Given the description of an element on the screen output the (x, y) to click on. 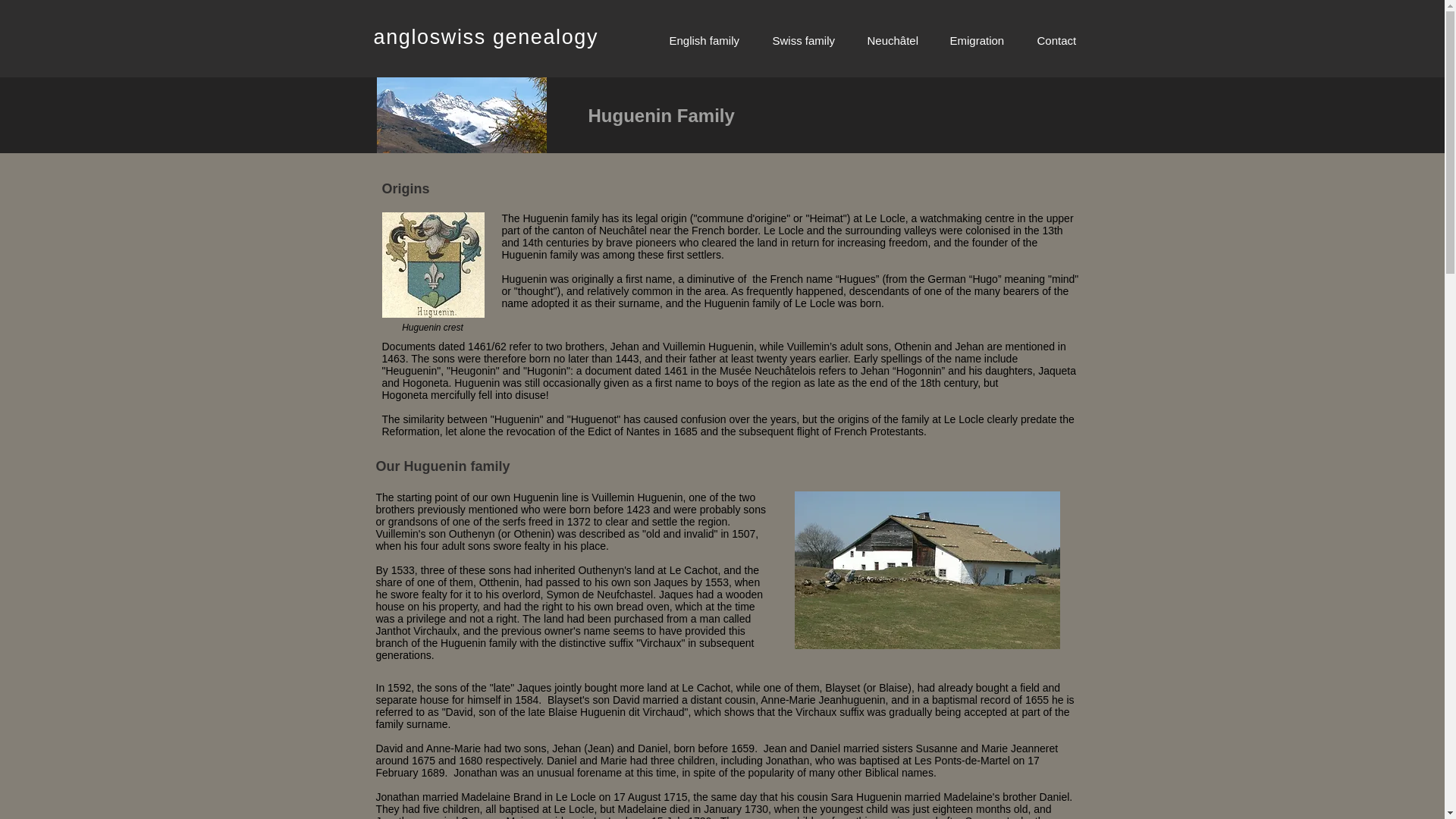
angloswiss (428, 36)
genealogy (542, 36)
Contact (1057, 40)
